Given the description of an element on the screen output the (x, y) to click on. 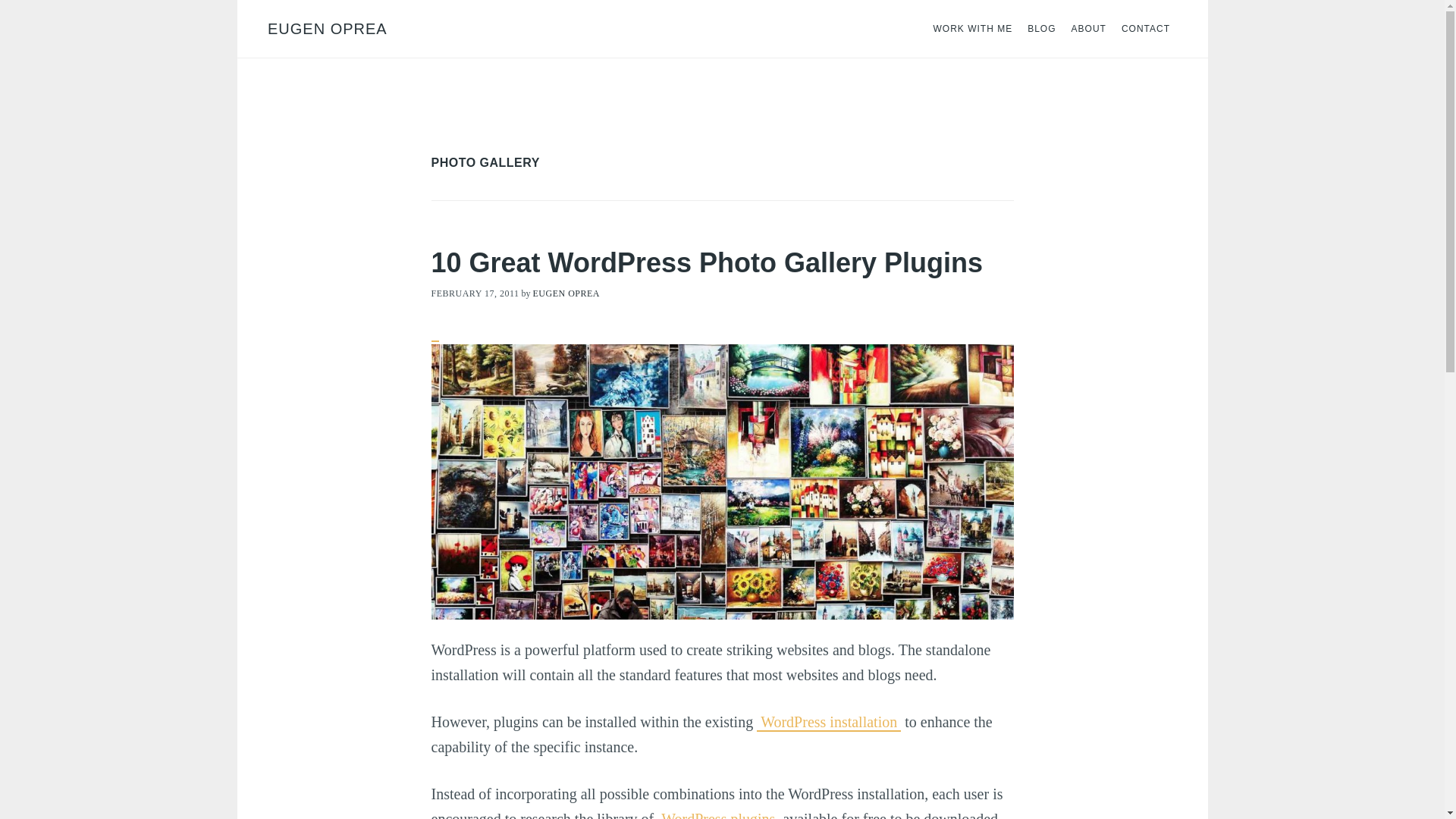
BLOG (1041, 28)
EUGEN OPREA (326, 28)
CONTACT (1144, 28)
CODE (851, 788)
WordPress plugins (718, 814)
Genesis Framework (973, 764)
CONTACT (906, 788)
PRIVACY POLICY (556, 788)
EUGEN OPREA (565, 293)
